Given the description of an element on the screen output the (x, y) to click on. 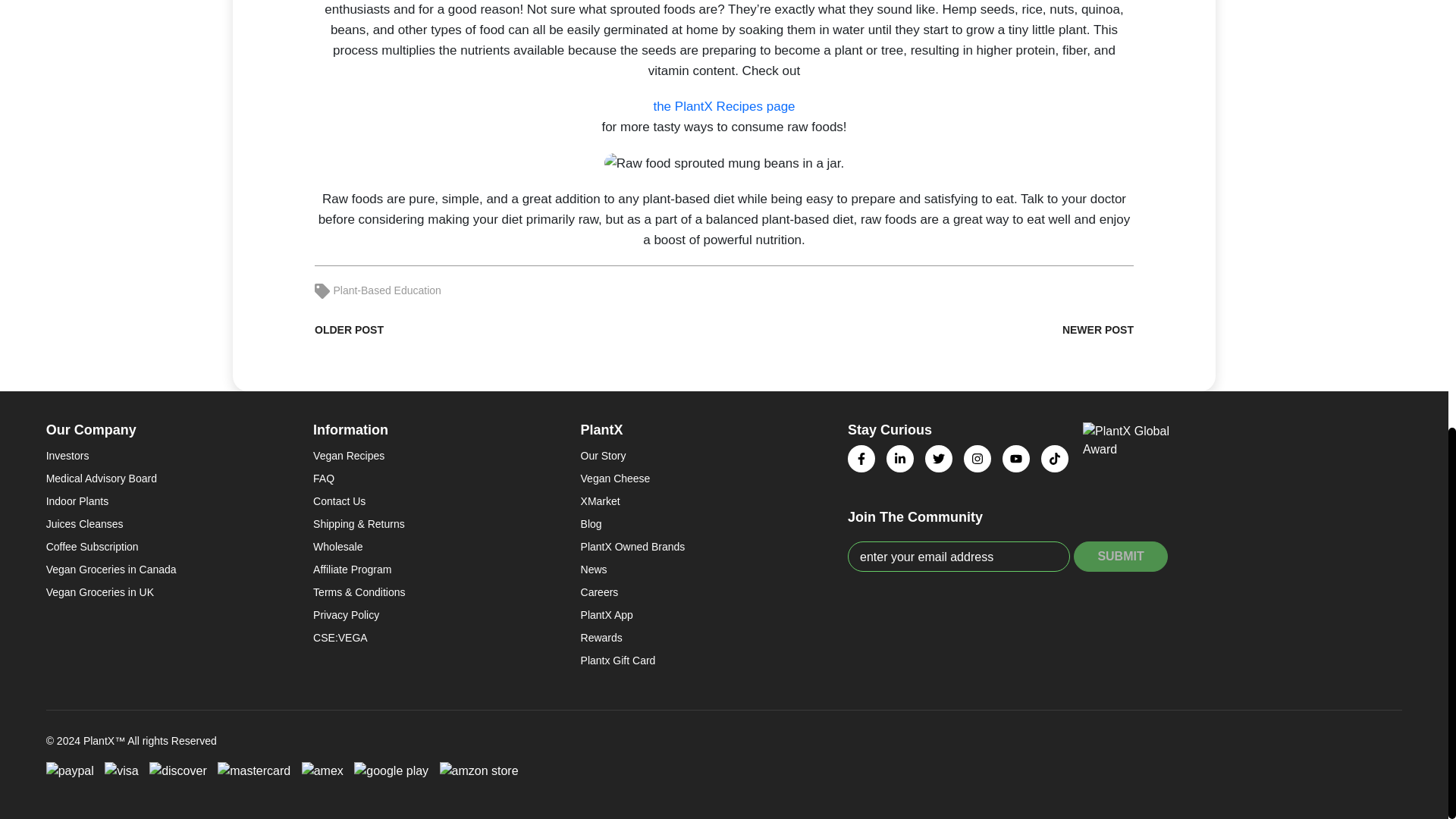
Submit (1120, 556)
Twitter (938, 458)
YouTube (1016, 458)
Facebook (861, 458)
Linkedin (900, 458)
Tiktok (1054, 458)
Instagram (977, 458)
